Given the description of an element on the screen output the (x, y) to click on. 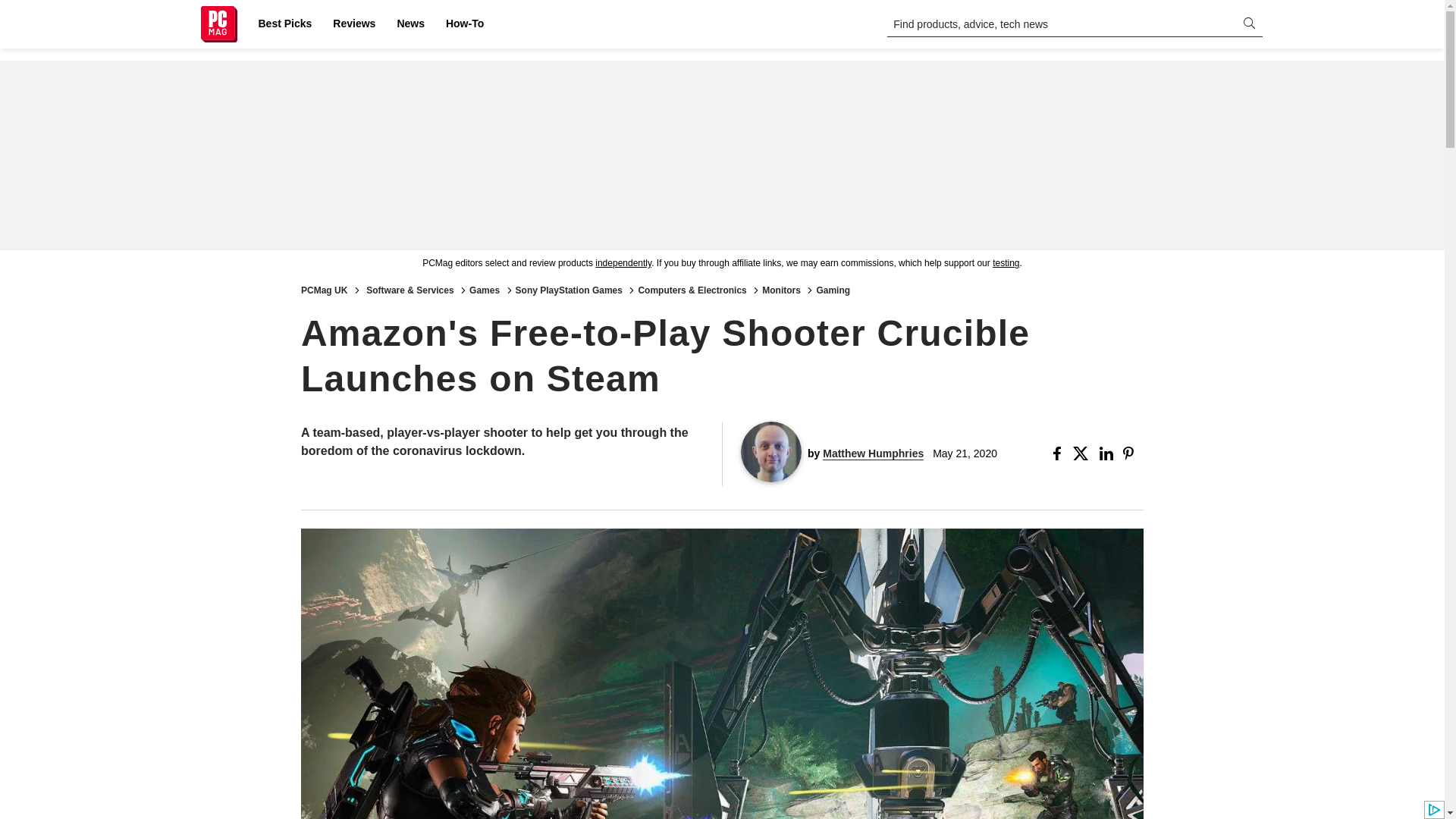
Share this Story on Pinterest (1132, 453)
Share this Story on X (1083, 453)
Share this Story on Facebook (1059, 453)
Share this Story on Linkedin (1107, 453)
Best Picks (284, 24)
